Given the description of an element on the screen output the (x, y) to click on. 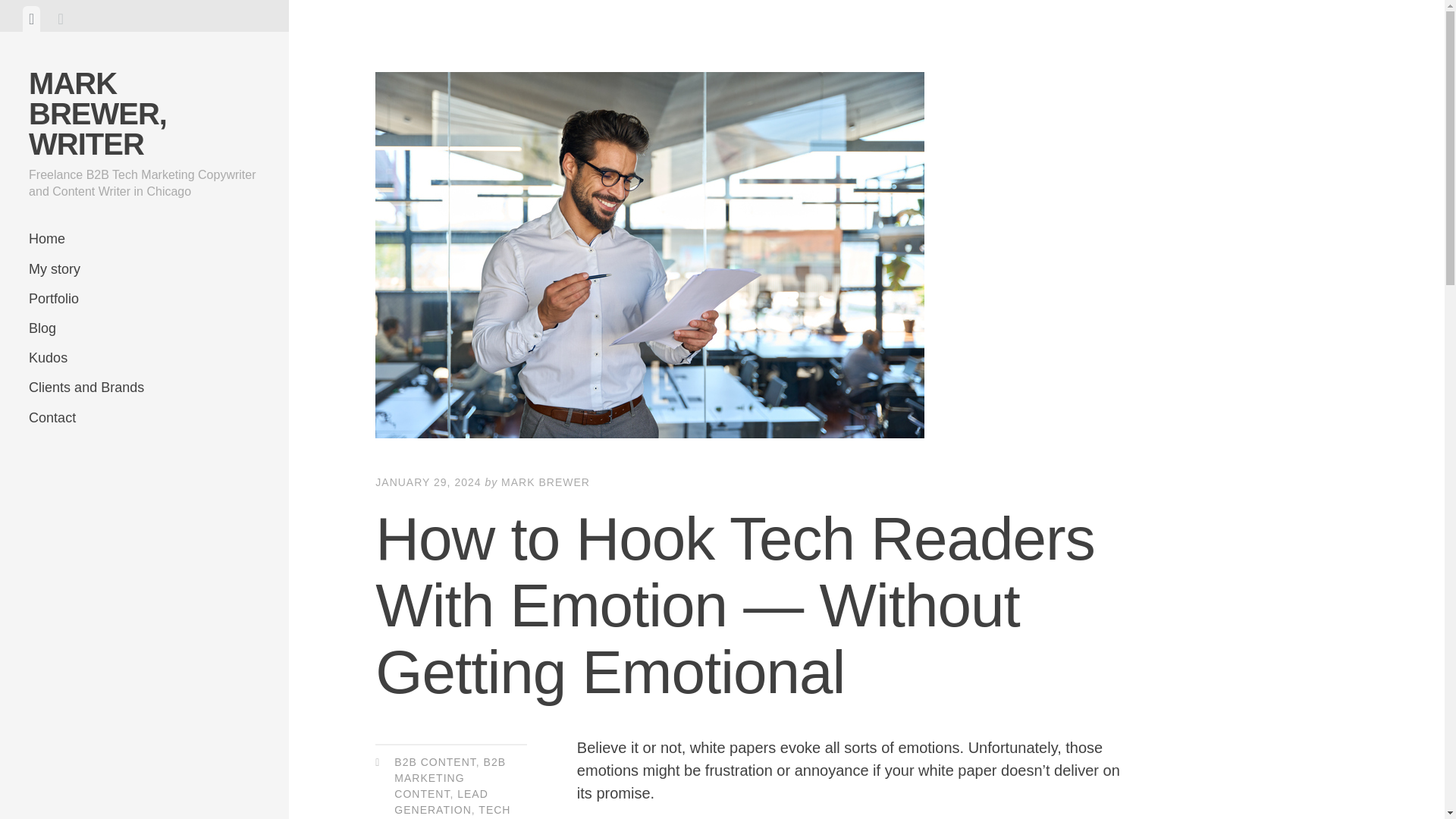
Kudos (144, 358)
Contact (144, 418)
B2B MARKETING CONTENT (449, 777)
Home (144, 238)
TECH CONTENT (452, 811)
Portfolio (144, 298)
Clients and Brands (144, 387)
LEAD GENERATION (440, 801)
B2B CONTENT (435, 761)
My story (144, 269)
